Given the description of an element on the screen output the (x, y) to click on. 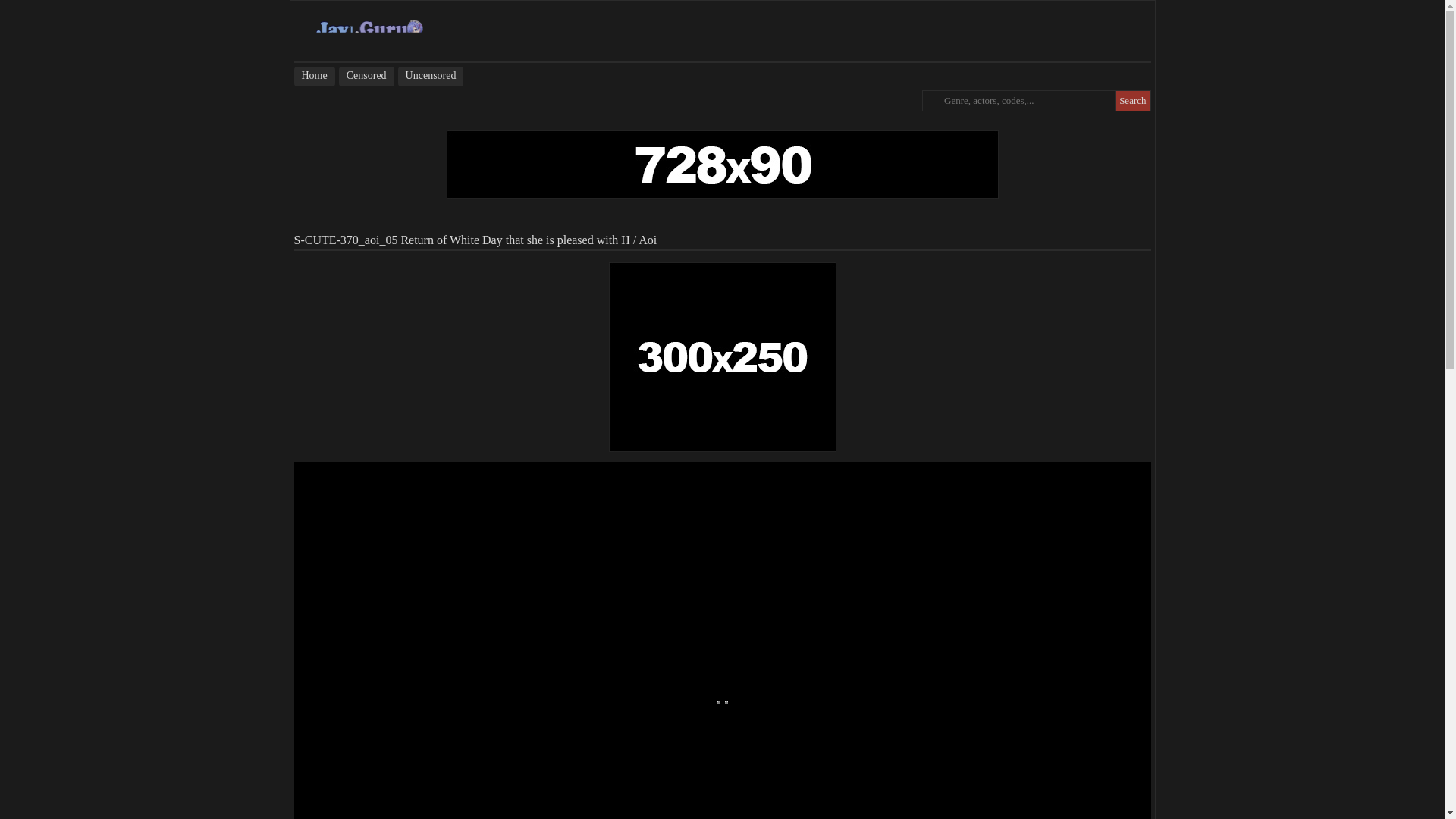
Search (1132, 100)
Censored (366, 76)
Uncensored (430, 76)
Search (1132, 100)
Home (314, 76)
Jav1.Guru (369, 30)
Search (1132, 100)
